Given the description of an element on the screen output the (x, y) to click on. 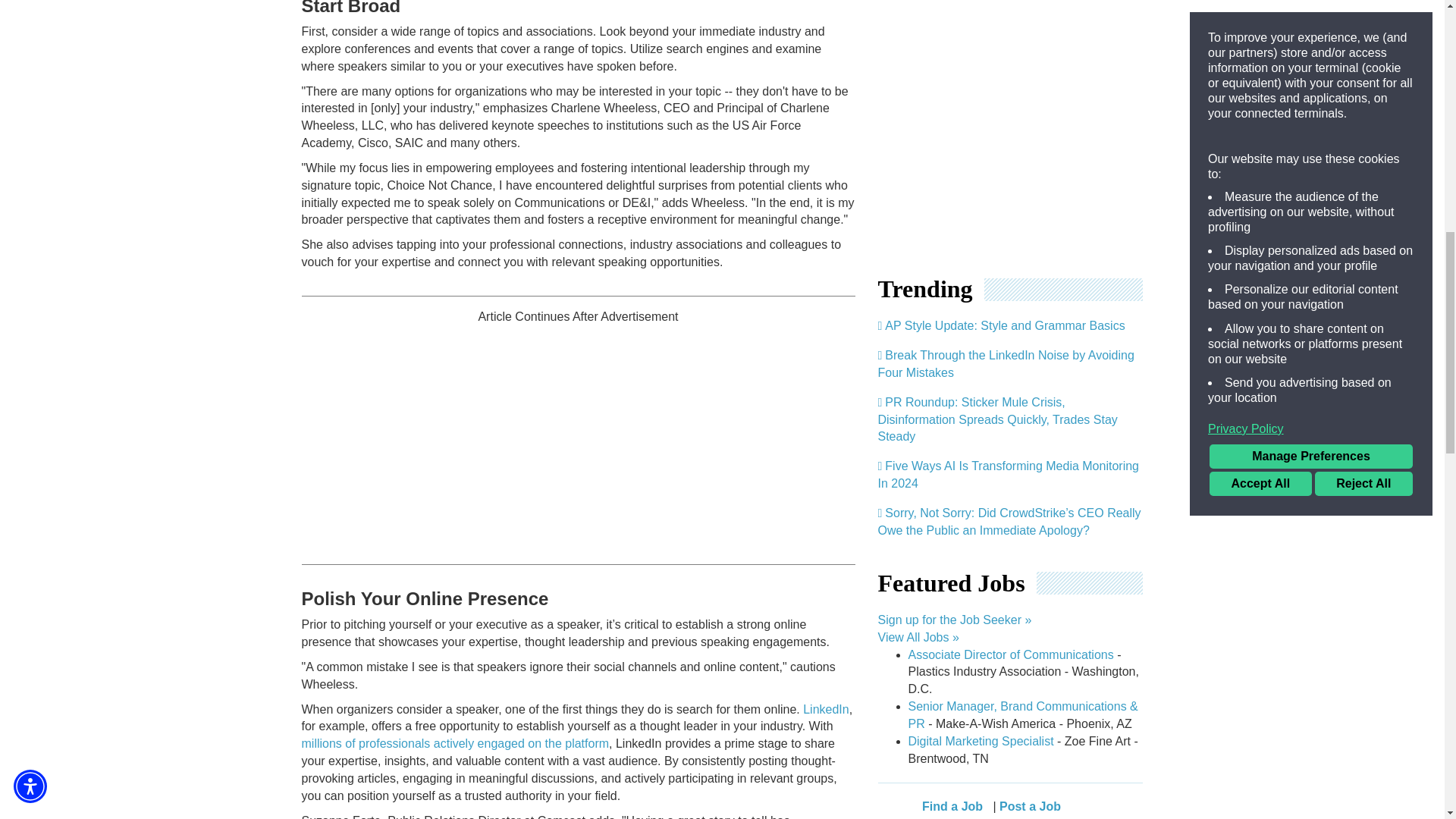
3rd party ad content (577, 432)
3rd party ad content (991, 122)
